Given the description of an element on the screen output the (x, y) to click on. 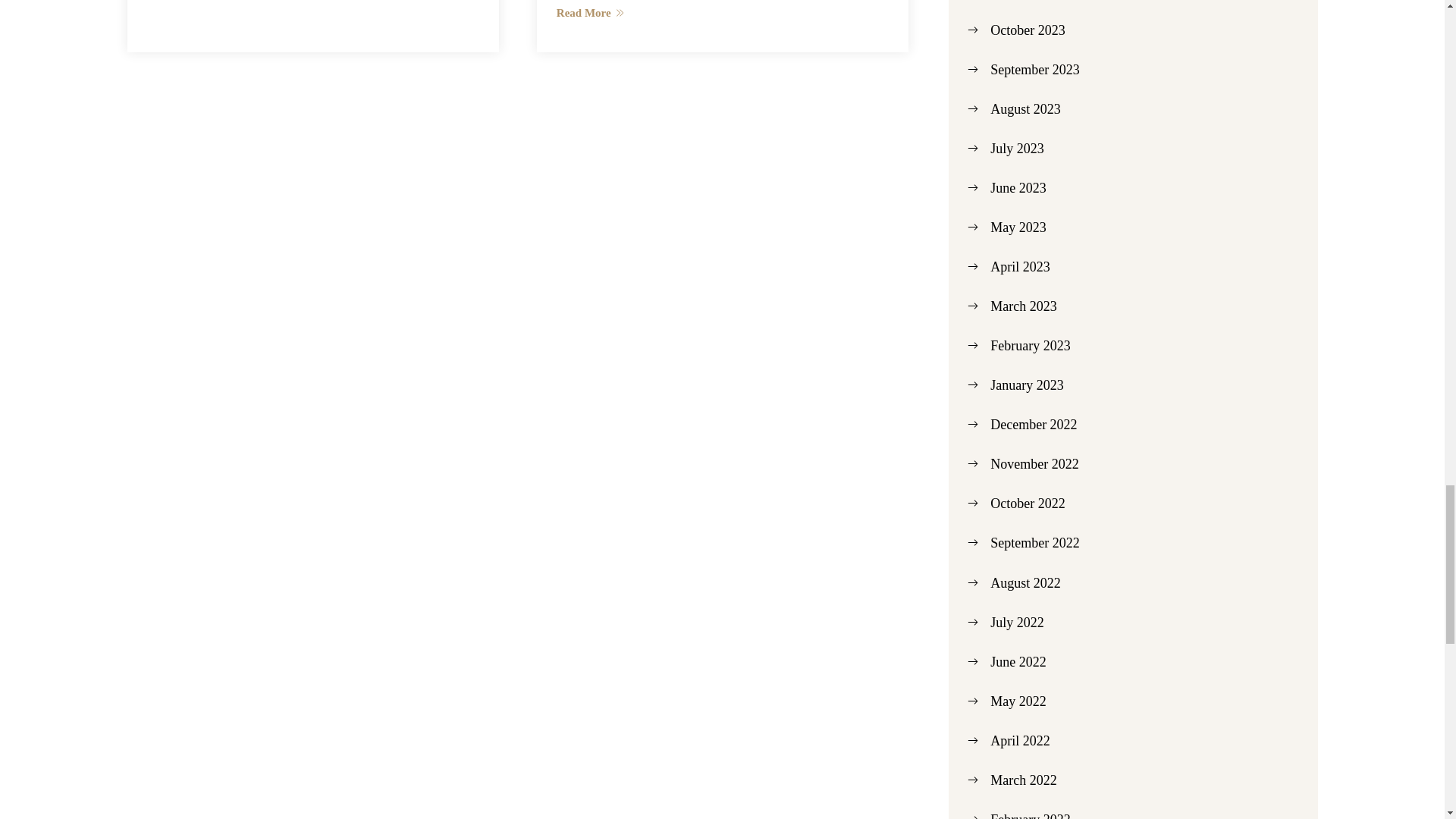
Read More (722, 12)
